Given the description of an element on the screen output the (x, y) to click on. 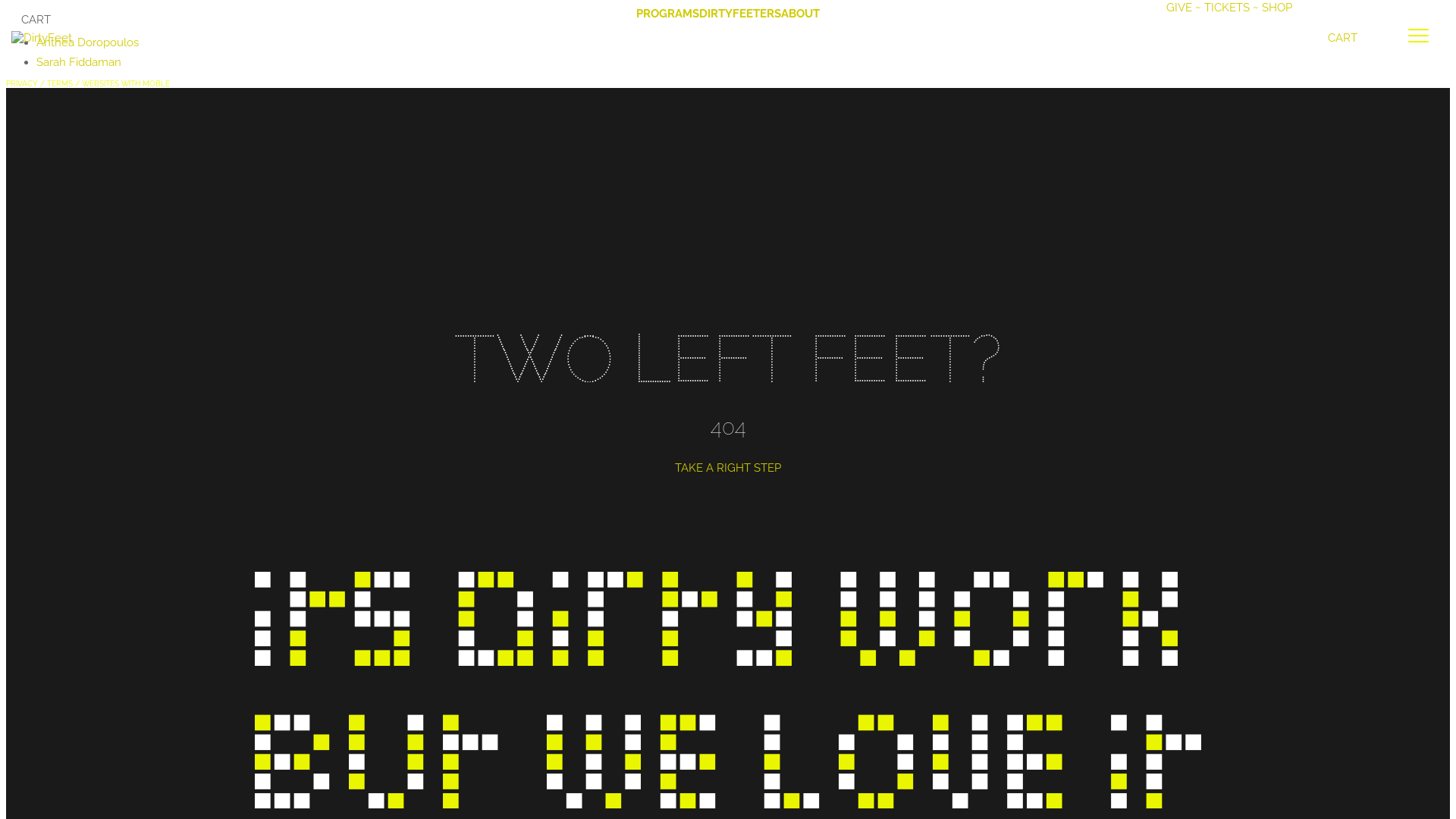
TAKE A RIGHT STEP Element type: text (727, 467)
GIVE ~ TICKETS ~ SHOP Element type: text (1229, 7)
PROGRAMS Element type: text (667, 14)
TERMS Element type: text (59, 83)
DIRTYFEETERS Element type: text (740, 14)
CART Element type: text (1364, 38)
ABOUT Element type: text (800, 14)
CART Element type: text (709, 19)
PRIVACY Element type: text (21, 83)
Anthea Doropoulos Element type: text (87, 42)
Sarah Fiddaman Element type: text (78, 62)
WEBSITES WITH MOBLE Element type: text (125, 83)
